Given the description of an element on the screen output the (x, y) to click on. 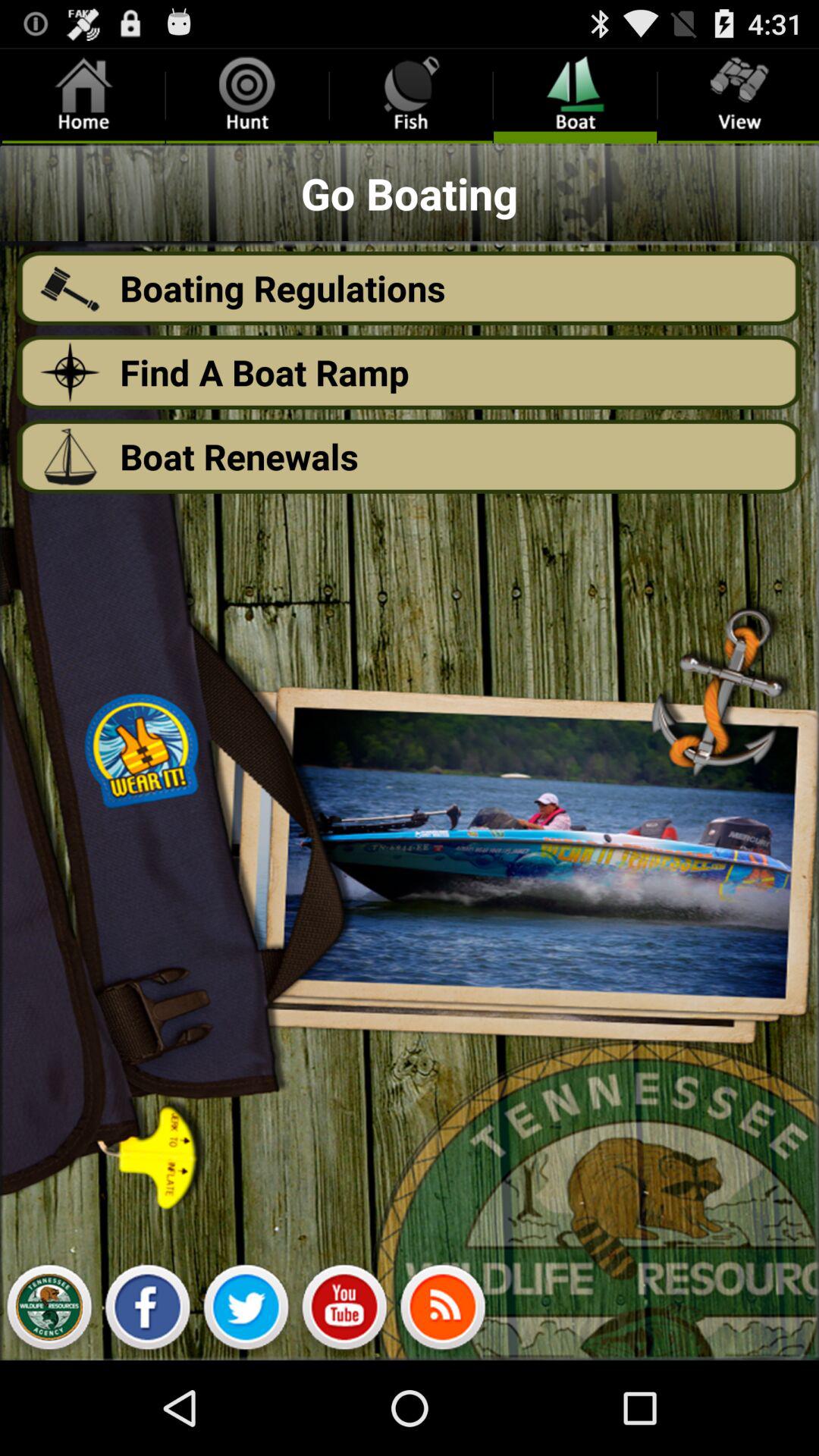
image button (49, 1311)
